Given the description of an element on the screen output the (x, y) to click on. 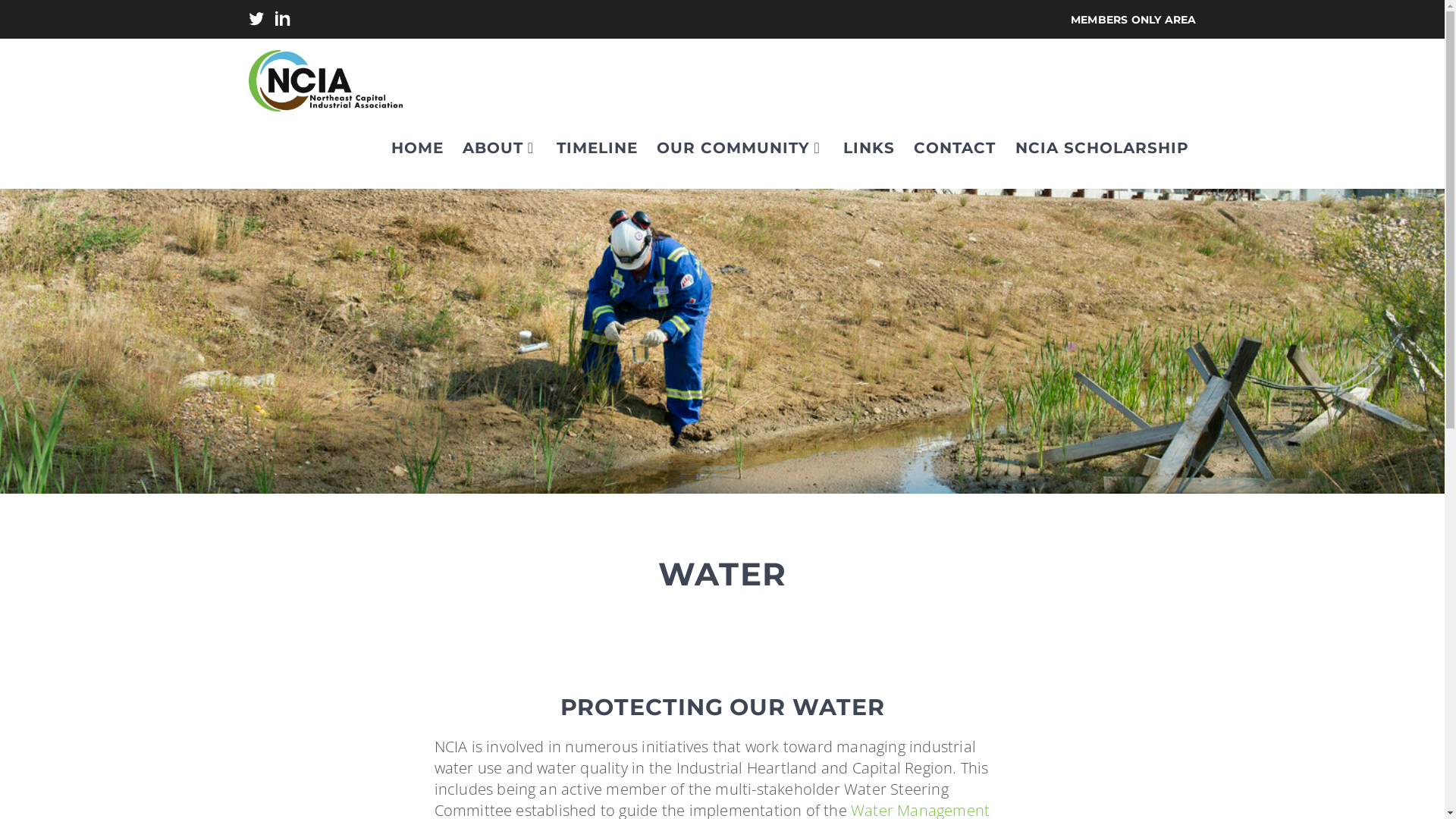
CONTACT Element type: text (954, 154)
NCIA SCHOLARSHIP Element type: text (1101, 154)
ABOUT Element type: text (492, 154)
MEMBERS ONLY AREA Element type: text (1132, 19)
HOME Element type: text (417, 154)
Northeast Capital Industrial Association Element type: hover (329, 80)
TIMELINE Element type: text (597, 154)
LINKS Element type: text (868, 154)
OUR COMMUNITY Element type: text (733, 154)
